Given the description of an element on the screen output the (x, y) to click on. 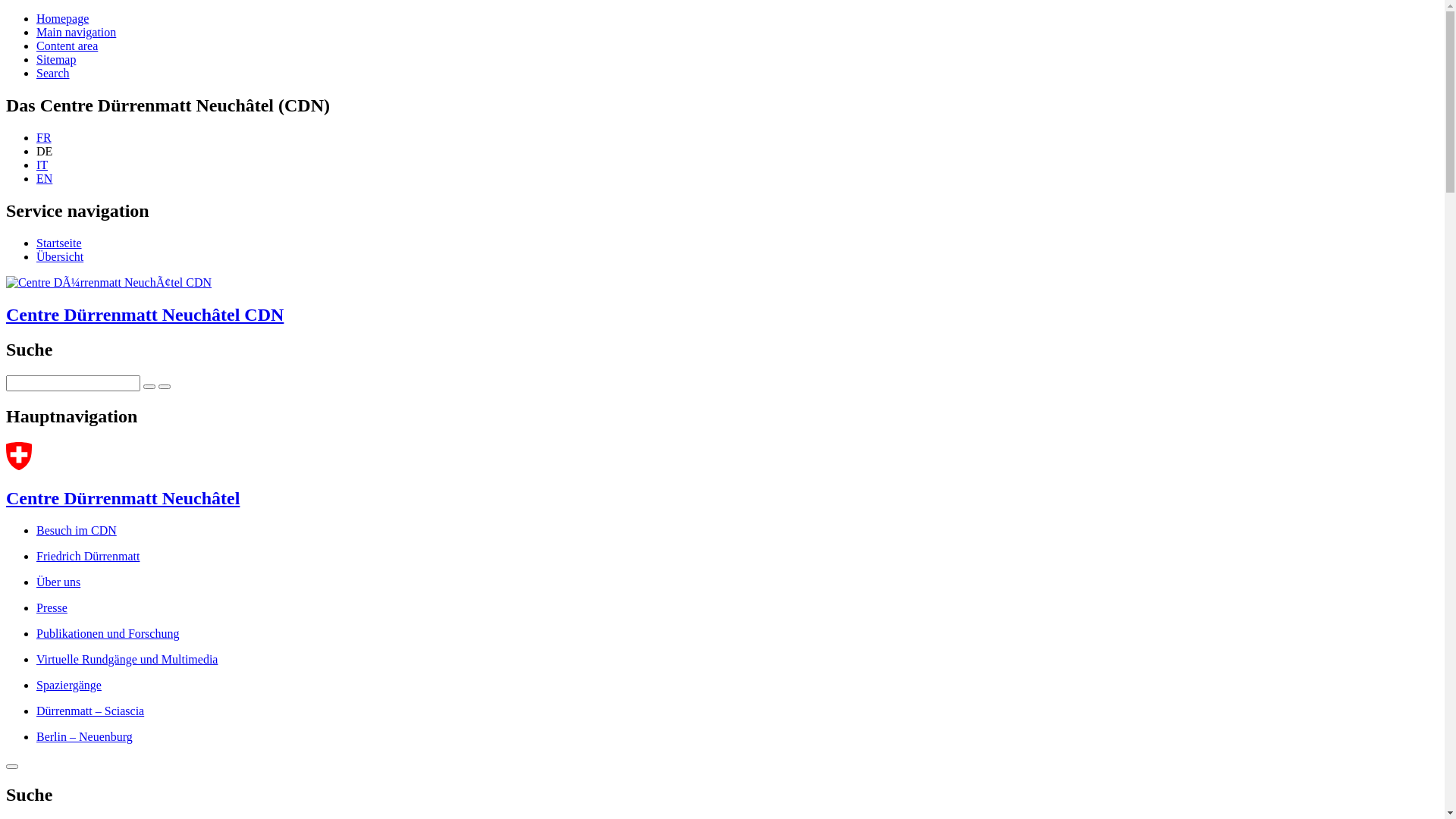
FR Element type: text (43, 137)
Sitemap Element type: text (55, 59)
DE Element type: text (44, 150)
Homepage Element type: text (62, 18)
Startseite Element type: text (58, 242)
EN Element type: text (44, 178)
Main navigation Element type: text (76, 31)
Content area Element type: text (66, 45)
Besuch im CDN Element type: text (76, 530)
Search Element type: text (52, 72)
Presse Element type: text (51, 607)
Publikationen und Forschung Element type: text (107, 633)
IT Element type: text (41, 164)
